Given the description of an element on the screen output the (x, y) to click on. 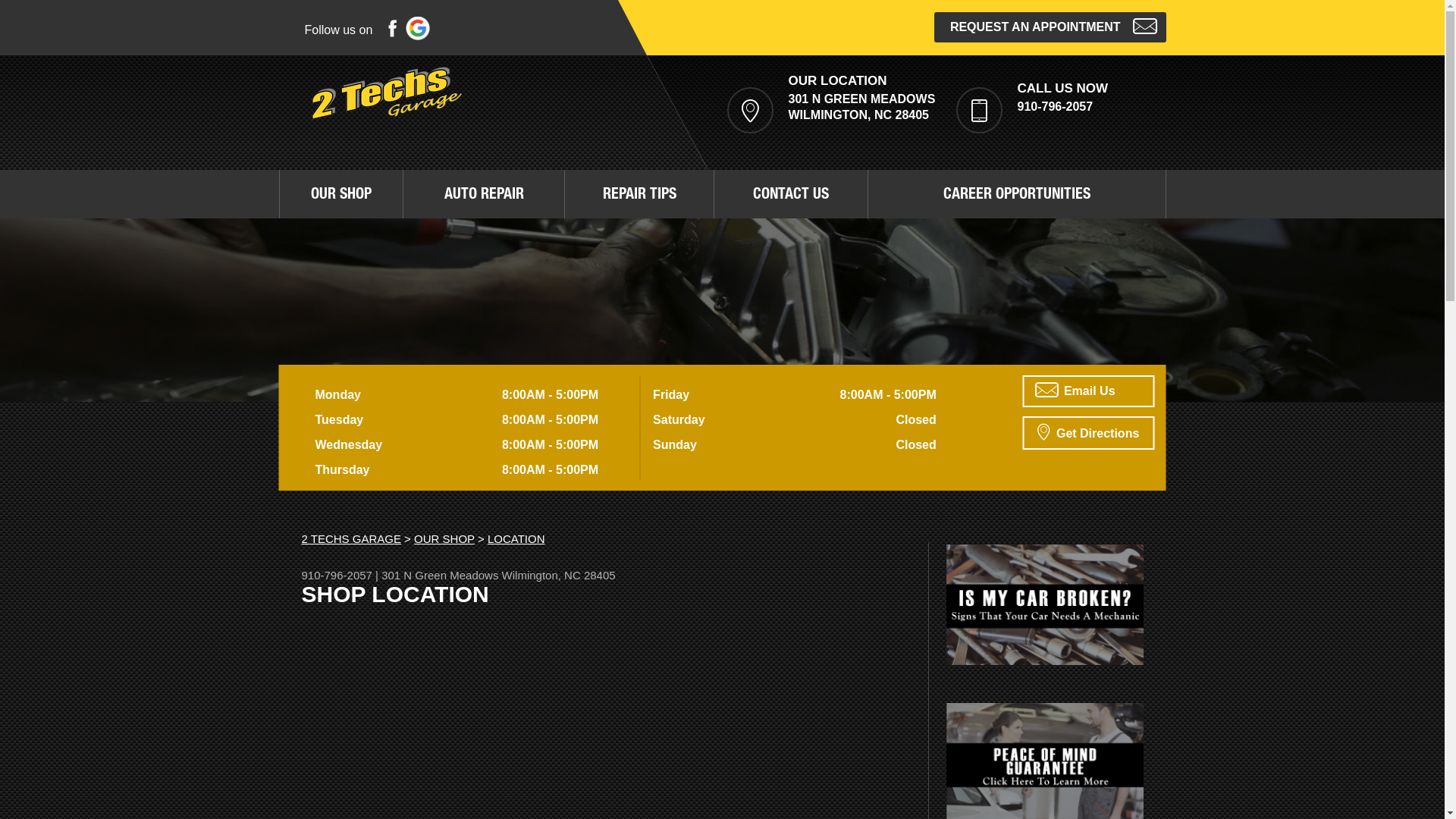
Email Us Element type: text (1088, 391)
AUTO REPAIR Element type: text (483, 193)
CAREER OPPORTUNITIES Element type: text (1016, 193)
LOCATION Element type: text (516, 538)
OUR SHOP Element type: text (444, 538)
910-796-2057 Element type: text (336, 574)
Wilmington, NC 28405 Element type: text (558, 574)
910-796-2057 Element type: text (1055, 106)
OUR SHOP Element type: text (340, 193)
2 TECHS GARAGE Element type: text (351, 538)
REQUEST AN APPOINTMENT Element type: text (1050, 27)
REPAIR TIPS Element type: text (638, 193)
Get Directions Element type: text (1088, 432)
301 N Green Meadows Element type: text (439, 574)
CONTACT US Element type: text (790, 193)
